Given the description of an element on the screen output the (x, y) to click on. 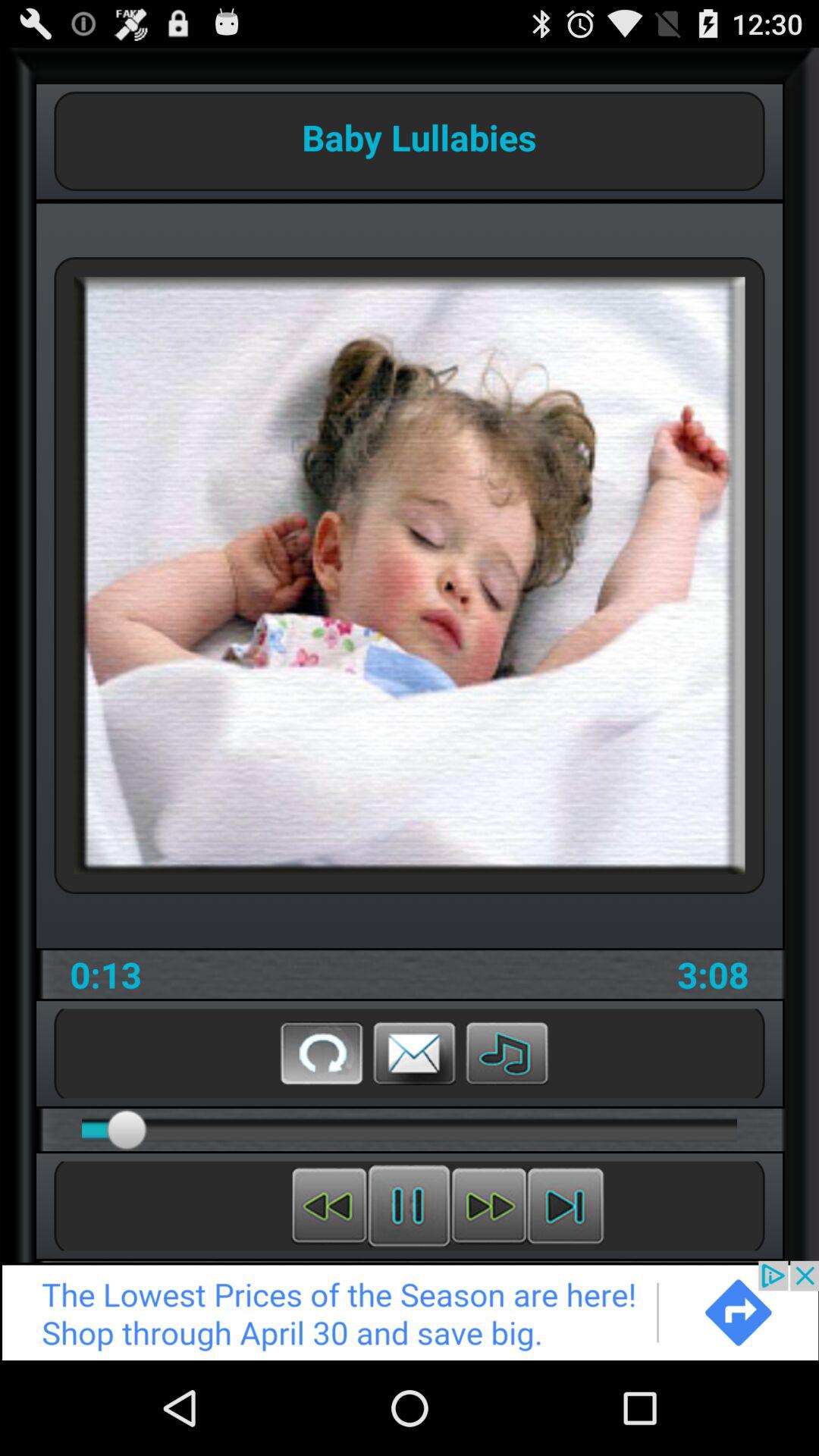
pause button (408, 1205)
